Given the description of an element on the screen output the (x, y) to click on. 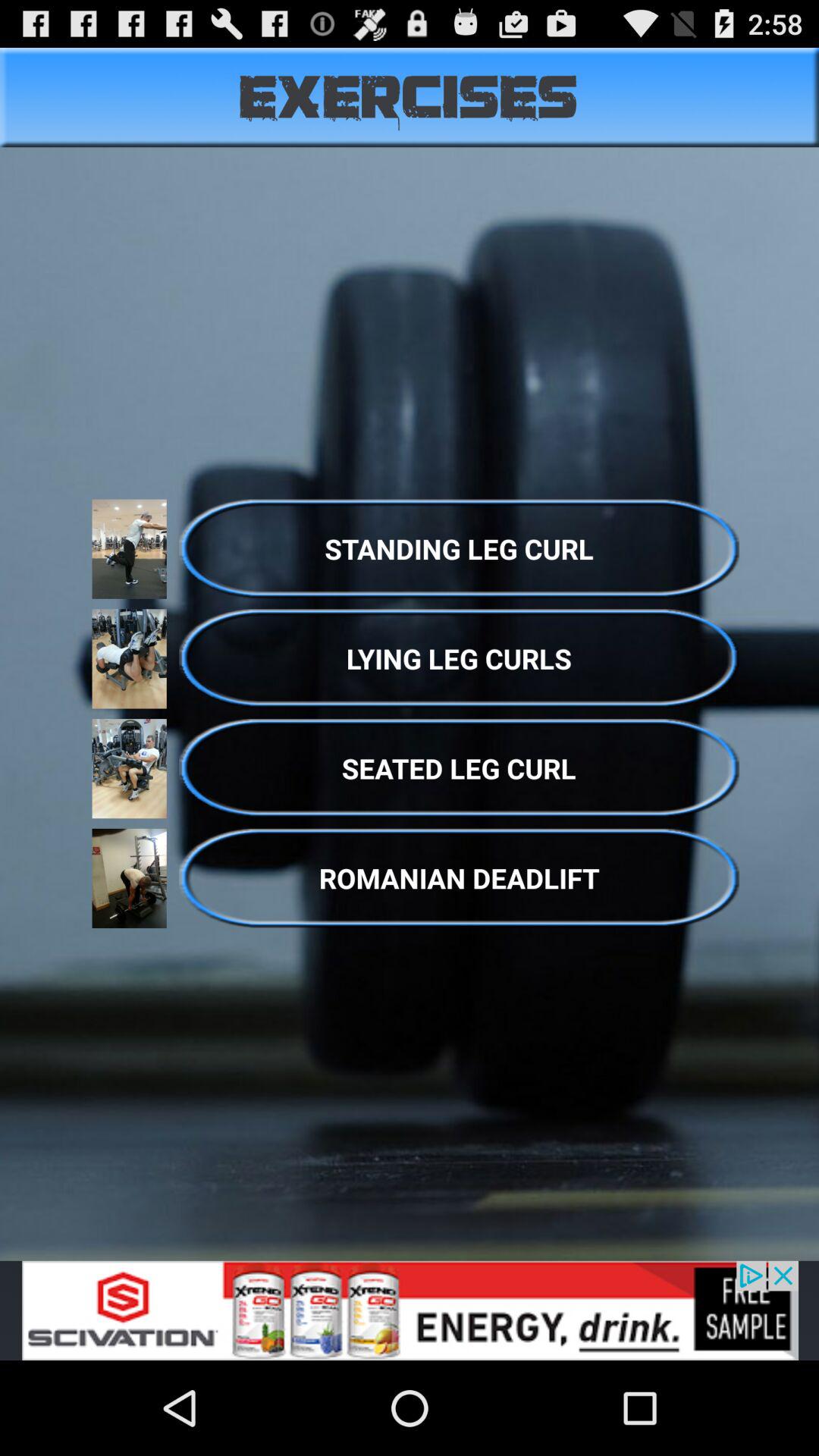
open advertisement (409, 1310)
